Given the description of an element on the screen output the (x, y) to click on. 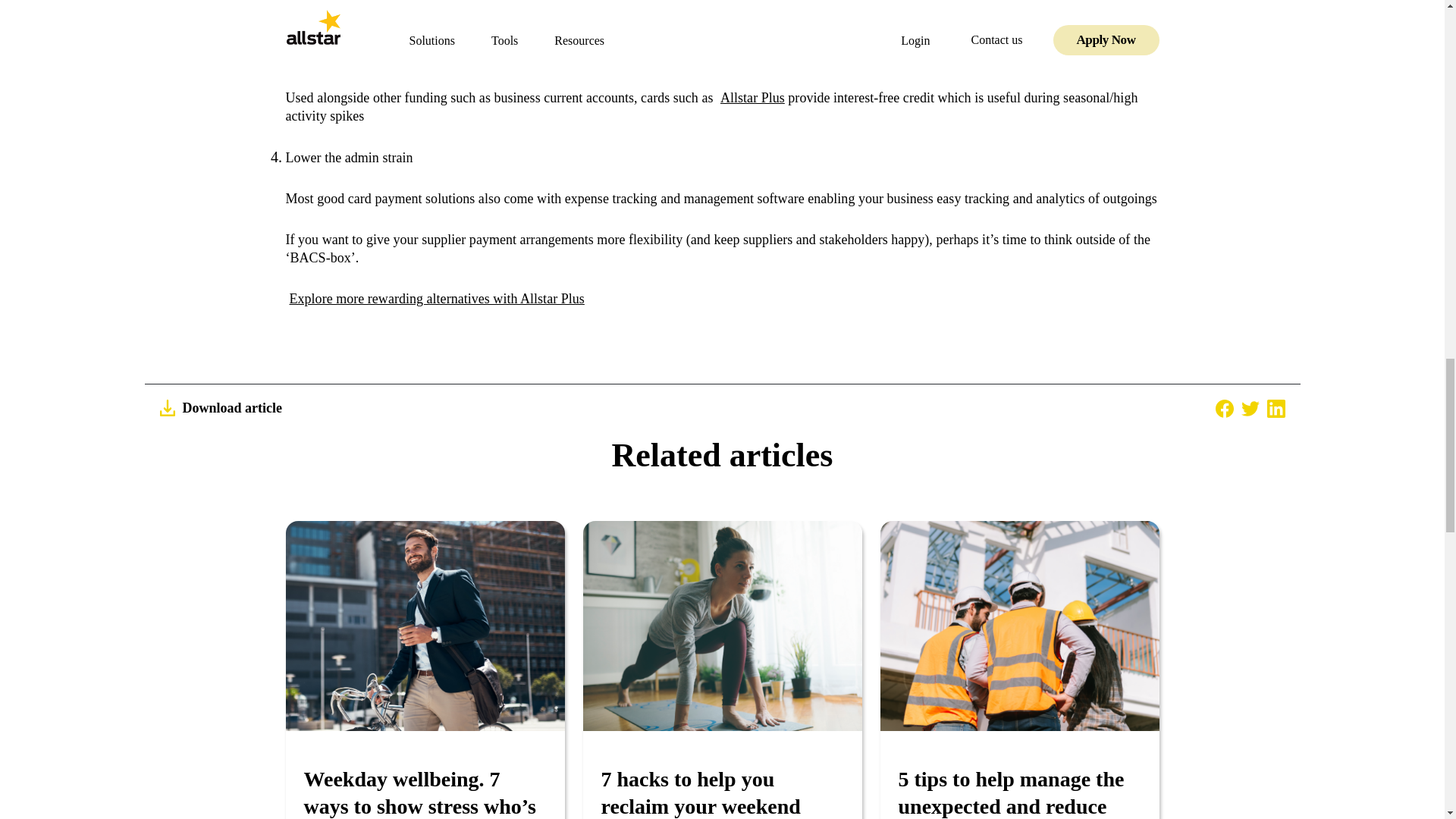
Allstar Plus (752, 97)
Explore more rewarding alternatives with Allstar Plus (437, 298)
